Given the description of an element on the screen output the (x, y) to click on. 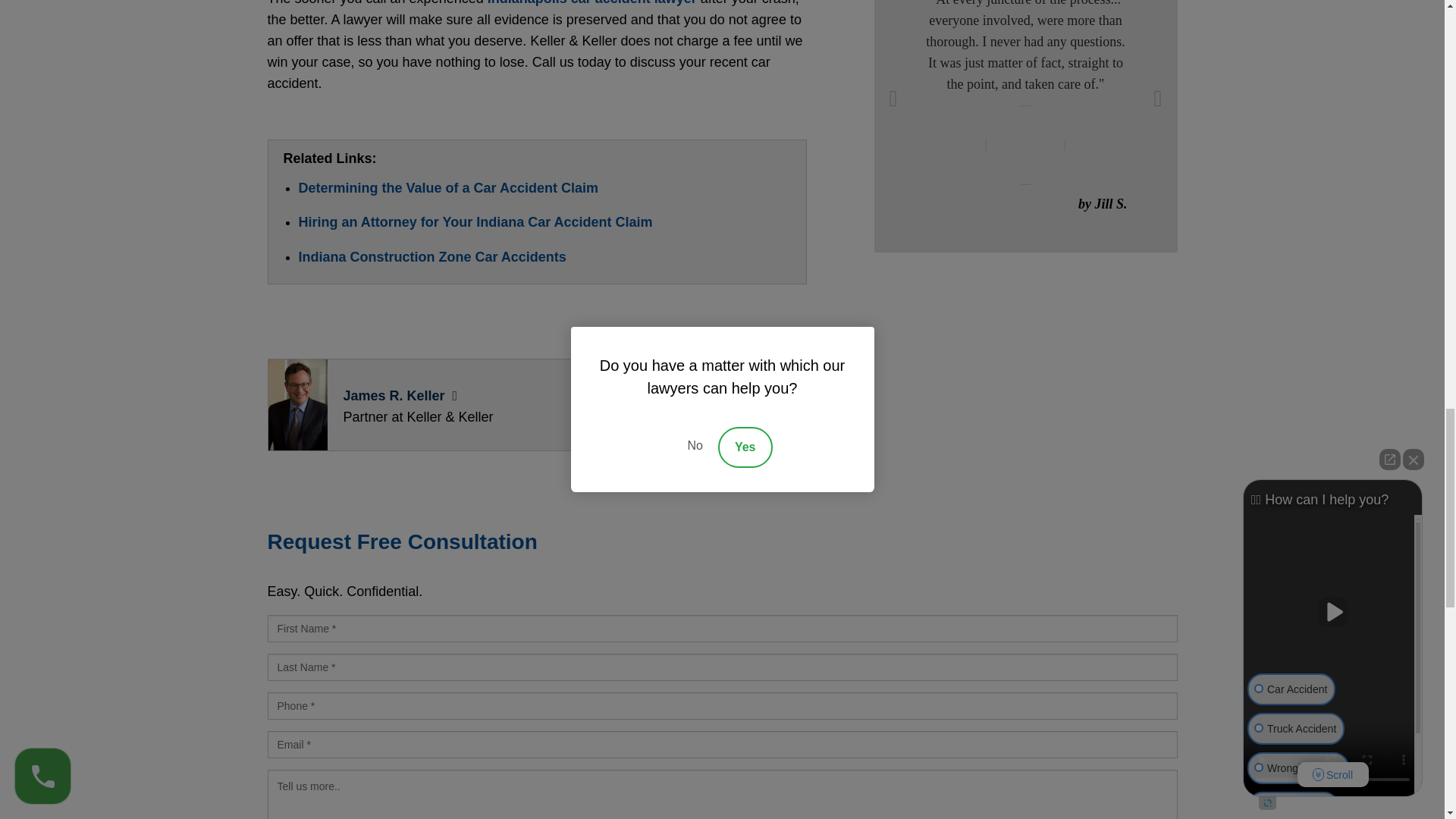
Watch me on YouTube (788, 416)
Connect with me on LinkedIn (756, 416)
Follow me on X (723, 416)
Find me on Facebook (691, 416)
